Given the description of an element on the screen output the (x, y) to click on. 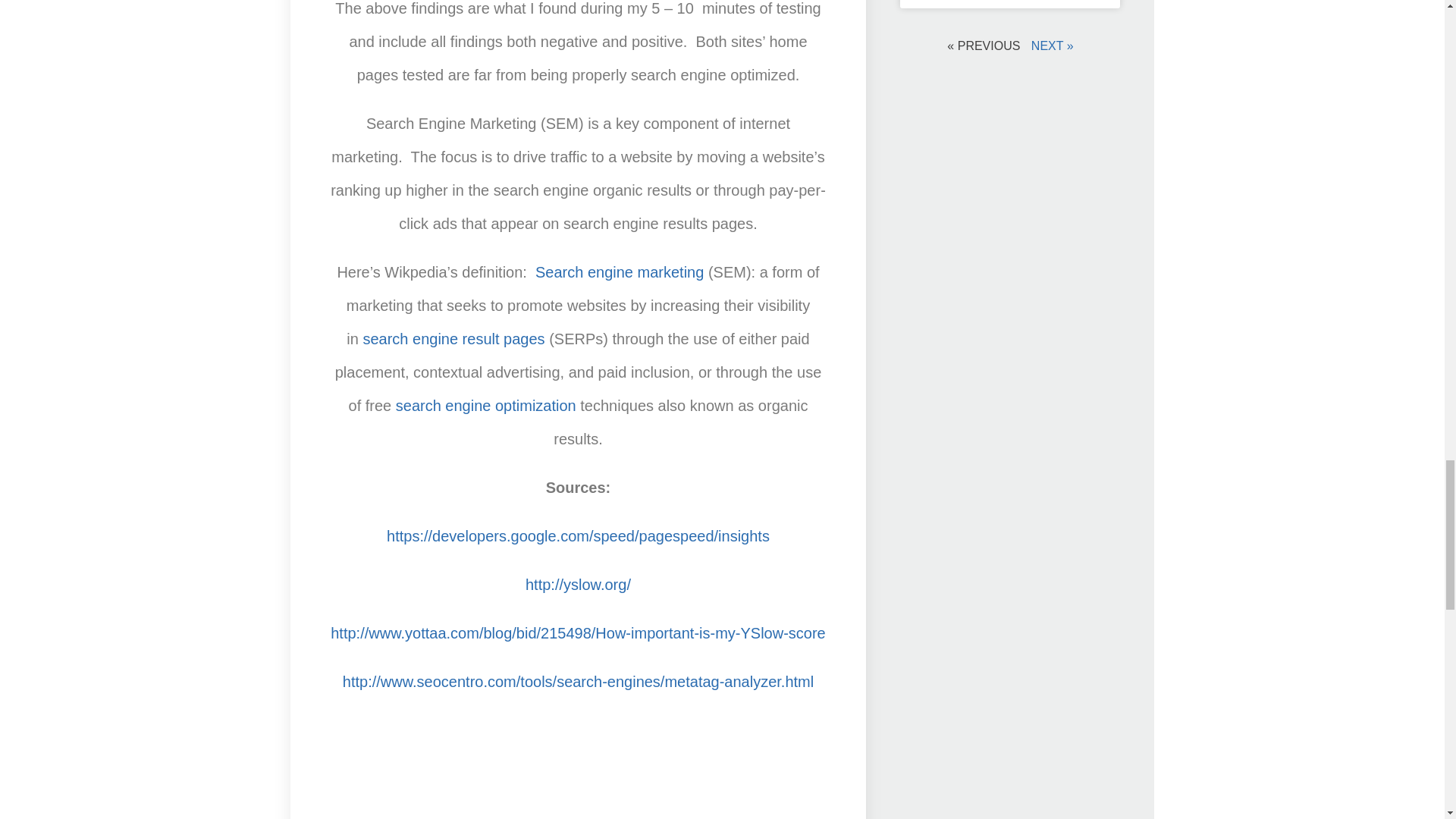
Search engine marketing (619, 271)
search engine result pages (453, 338)
search engine optimization (486, 405)
